Given the description of an element on the screen output the (x, y) to click on. 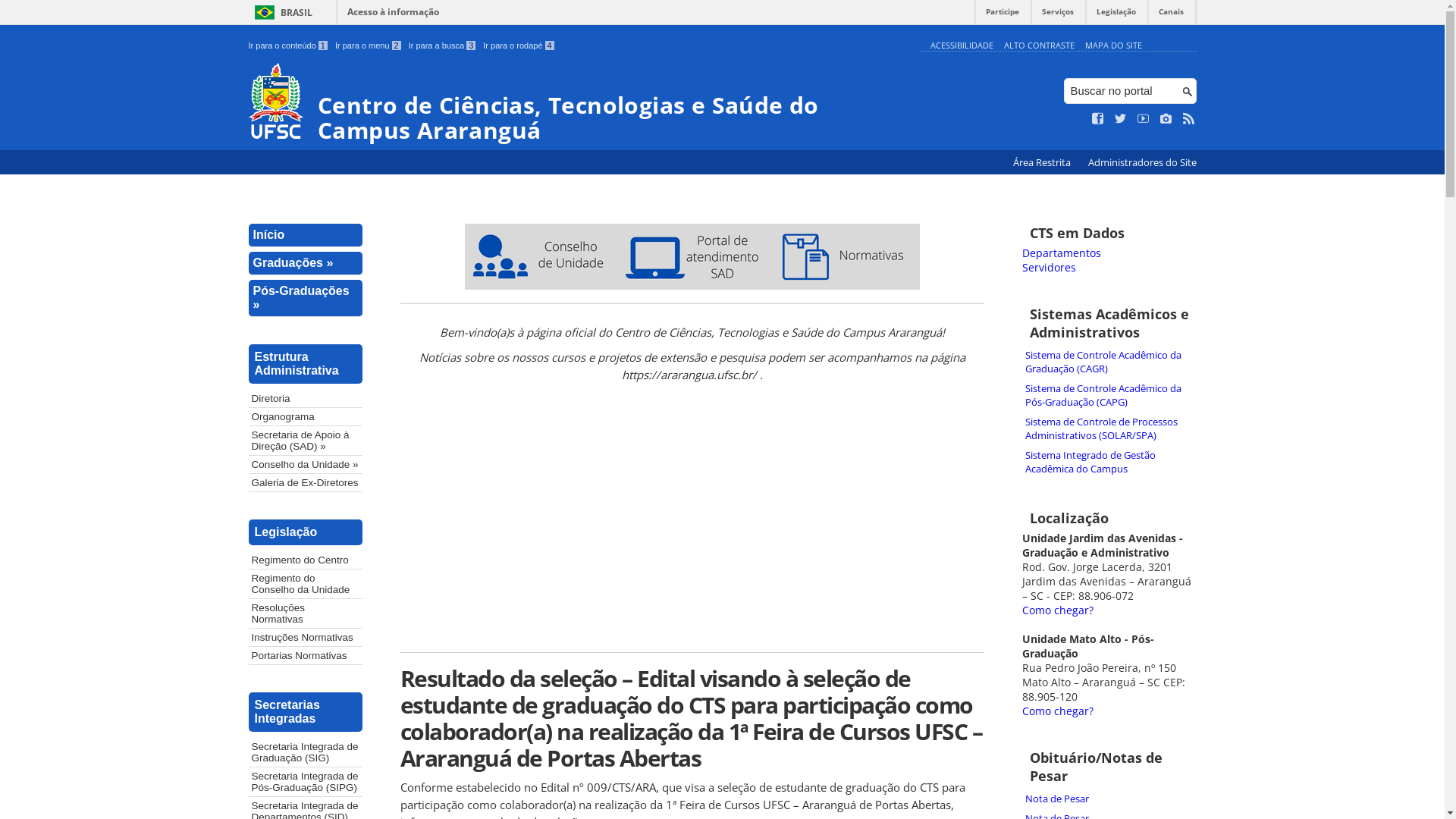
ACESSIBILIDADE Element type: text (960, 44)
Veja no Instagram Element type: hover (1166, 118)
Como chegar? Element type: text (1057, 609)
Siga no Twitter Element type: hover (1120, 118)
Como chegar? Element type: text (1057, 710)
Curta no Facebook Element type: hover (1098, 118)
Servidores Element type: text (1049, 267)
Organograma Element type: text (305, 416)
MAPA DO SITE Element type: text (1112, 44)
Sistema de Controle de Processos Administrativos (SOLAR/SPA) Element type: text (1109, 428)
Regimento do Centro Element type: text (305, 559)
Portarias Normativas Element type: text (305, 655)
Regimento do Conselho da Unidade Element type: text (305, 583)
Diretoria Element type: text (305, 398)
Canais Element type: text (1171, 15)
  Element type: text (691, 398)
BRASIL Element type: text (280, 12)
Galeria de Ex-Diretores Element type: text (305, 482)
ALTO CONTRASTE Element type: text (1039, 44)
Ir para a busca 3 Element type: text (442, 45)
Departamentos Element type: text (1061, 252)
Ir para o menu 2 Element type: text (368, 45)
Participe Element type: text (1002, 15)
Nota de Pesar Element type: text (1109, 798)
Administradores do Site Element type: text (1141, 162)
